Given the description of an element on the screen output the (x, y) to click on. 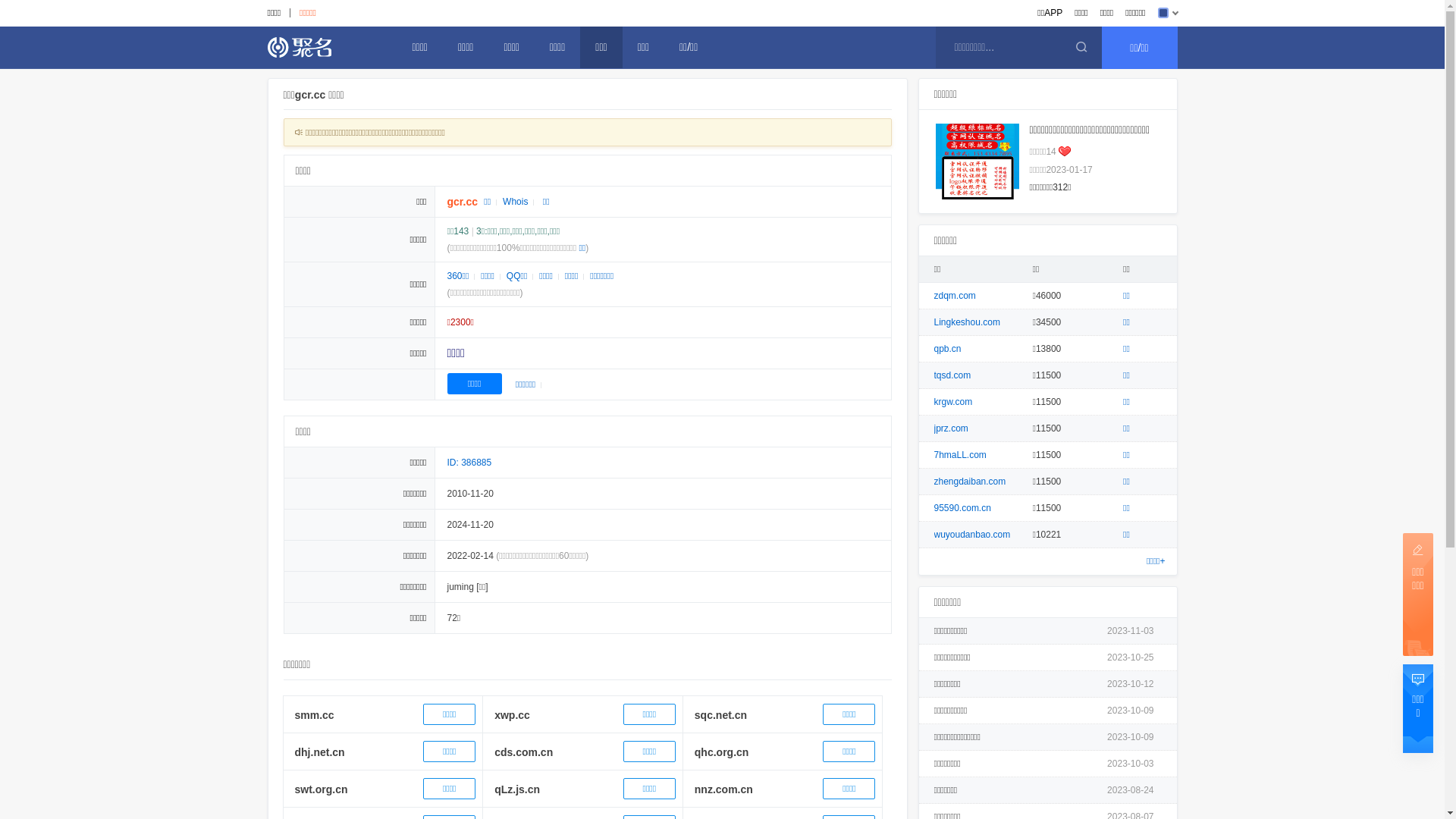
ID: 386885 Element type: text (469, 462)
Whois Element type: text (514, 201)
jprz.com Element type: text (951, 428)
7hmaLL.com Element type: text (960, 454)
95590.com.cn Element type: text (962, 507)
Lingkeshou.com Element type: text (967, 321)
tqsd.com Element type: text (952, 375)
krgw.com Element type: text (953, 401)
zdqm.com Element type: text (954, 295)
zhengdaiban.com Element type: text (970, 481)
wuyoudanbao.com Element type: text (972, 534)
qpb.cn Element type: text (947, 348)
